Given the description of an element on the screen output the (x, y) to click on. 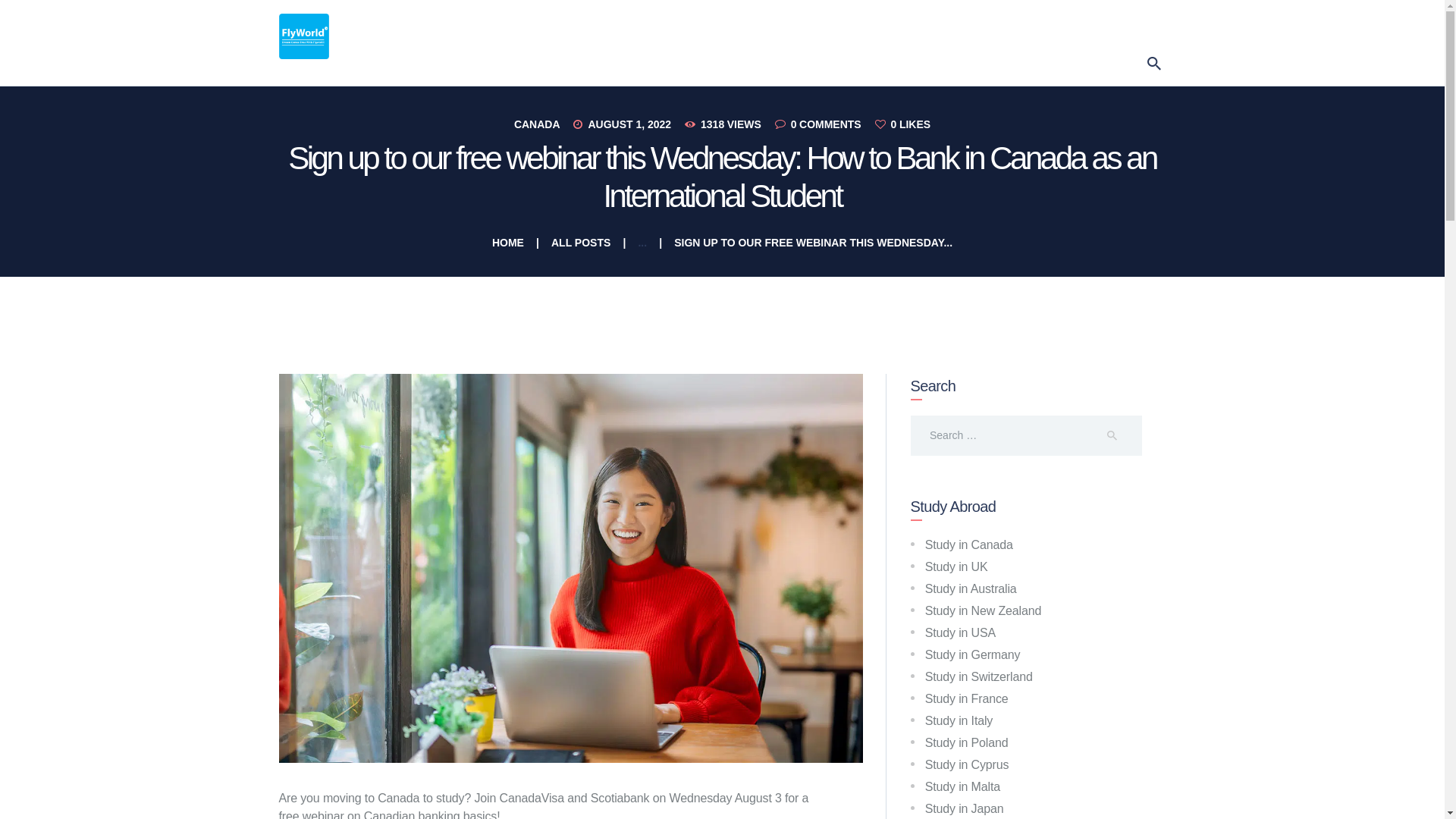
AUGUST 1, 2022 (629, 123)
Search (1120, 435)
Like (903, 123)
ALL POSTS (580, 242)
0LIKES (903, 123)
0COMMENTS (823, 123)
CANADA (536, 123)
Search (1120, 435)
1318VIEWS (727, 123)
HOME (508, 242)
